Given the description of an element on the screen output the (x, y) to click on. 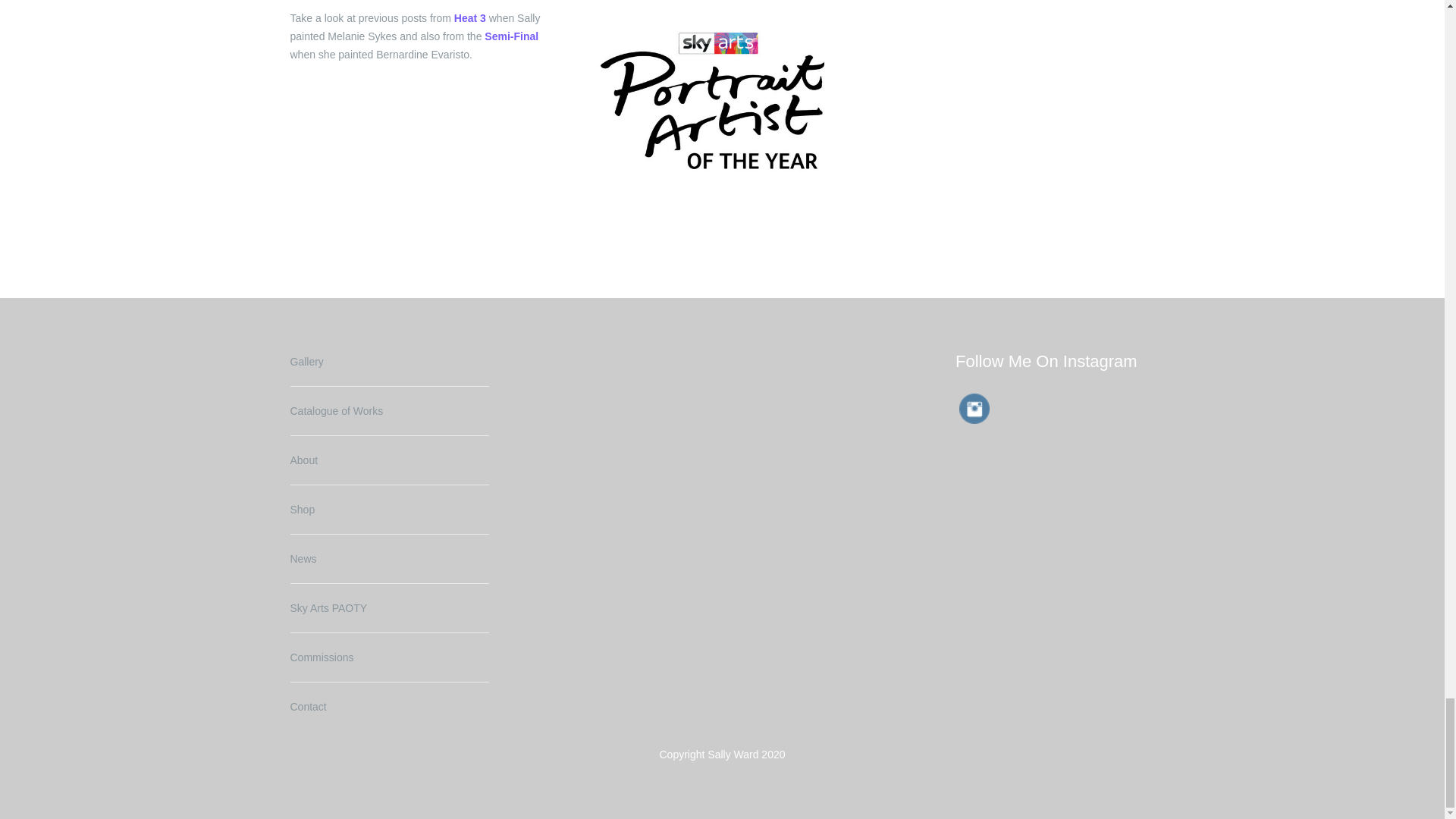
Semi-Final (511, 36)
Catalogue of Works (335, 410)
Contact (307, 706)
Heat 3 (470, 18)
About (303, 460)
News (302, 558)
Commissions (321, 657)
Shop (301, 509)
Gallery (306, 361)
Sky Arts PAOTY (327, 607)
